Given the description of an element on the screen output the (x, y) to click on. 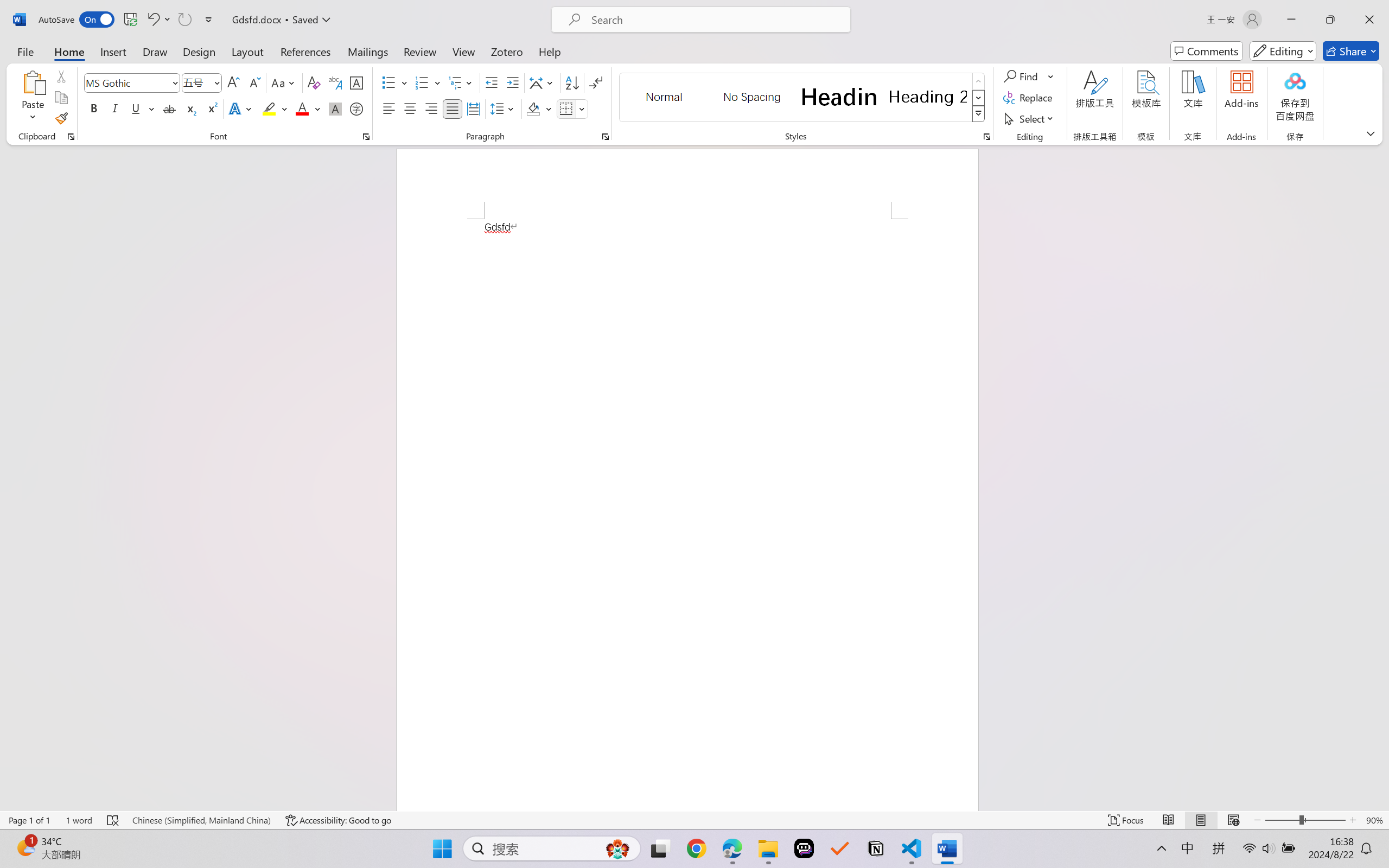
Font Color Red (302, 108)
Undo Font Formatting (152, 19)
